Given the description of an element on the screen output the (x, y) to click on. 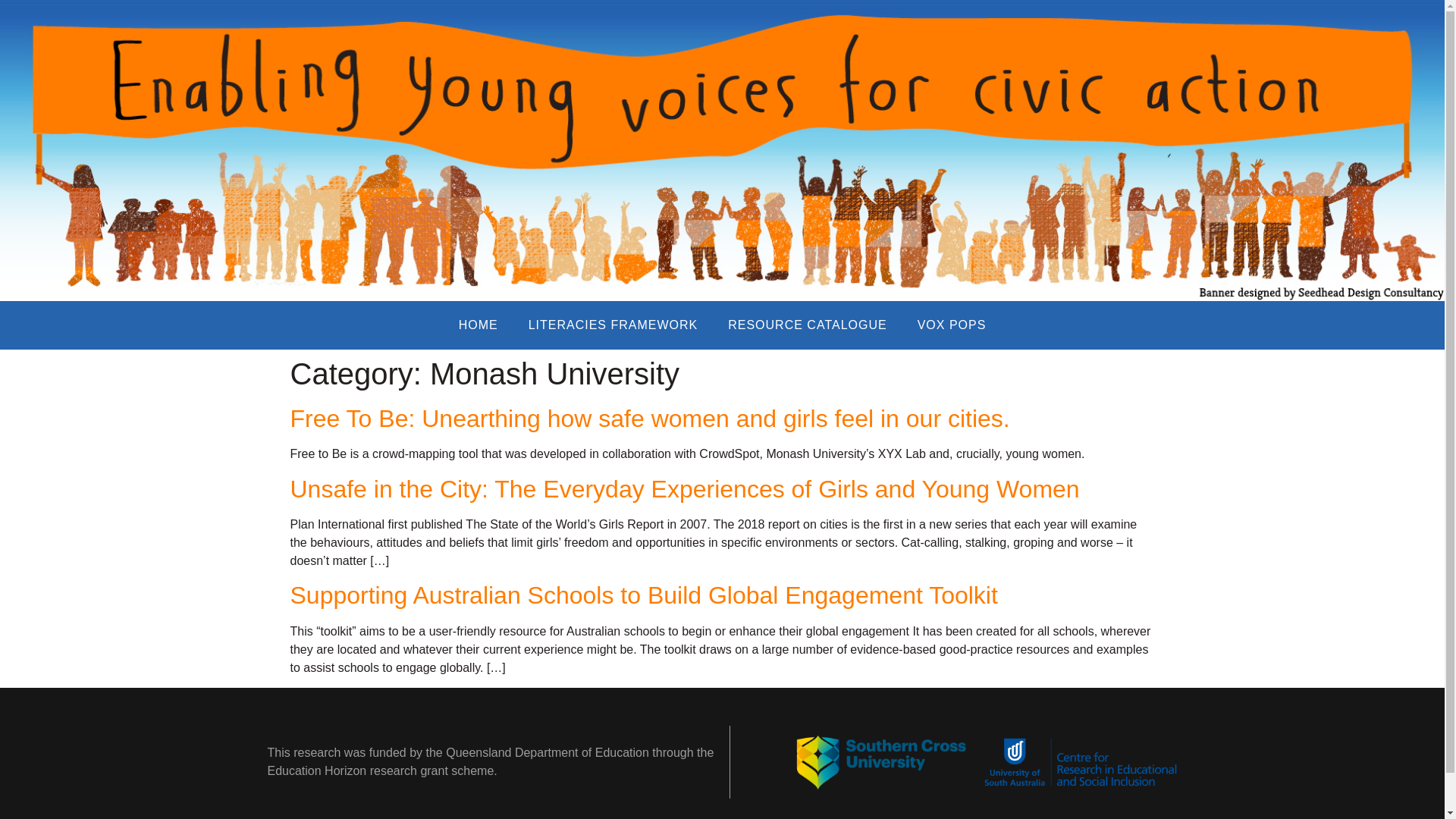
HOME (478, 325)
VOX POPS (951, 325)
LITERACIES FRAMEWORK (613, 325)
RESOURCE CATALOGUE (807, 325)
